Given the description of an element on the screen output the (x, y) to click on. 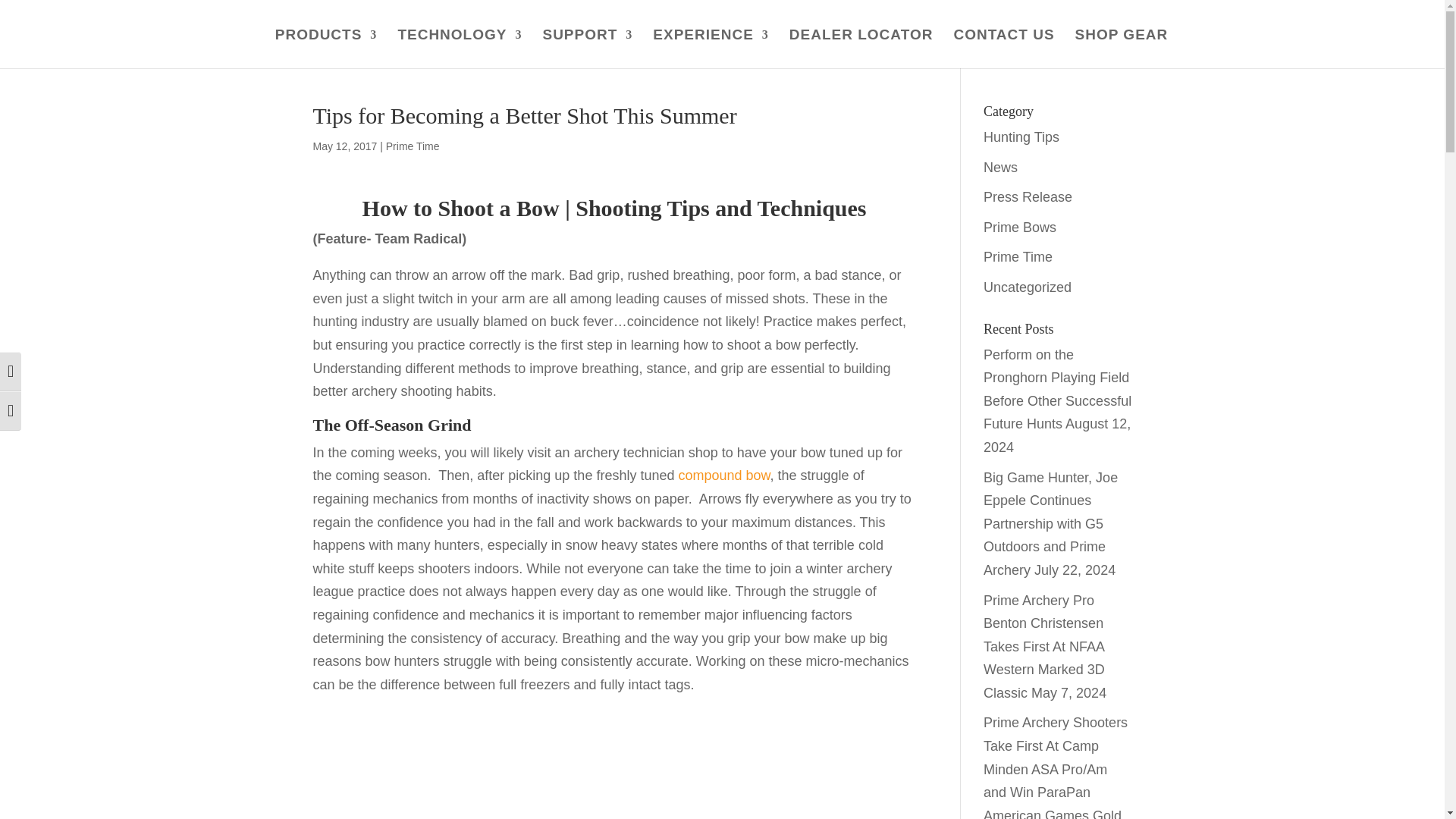
Press Release (1027, 196)
Hunting Tips (1021, 136)
EXPERIENCE (710, 48)
TECHNOLOGY (459, 48)
Prime Time (412, 146)
Prime Bows (1020, 227)
News (1000, 167)
Prime Time (1018, 256)
DEALER LOCATOR (861, 48)
PRODUCTS (326, 48)
